Given the description of an element on the screen output the (x, y) to click on. 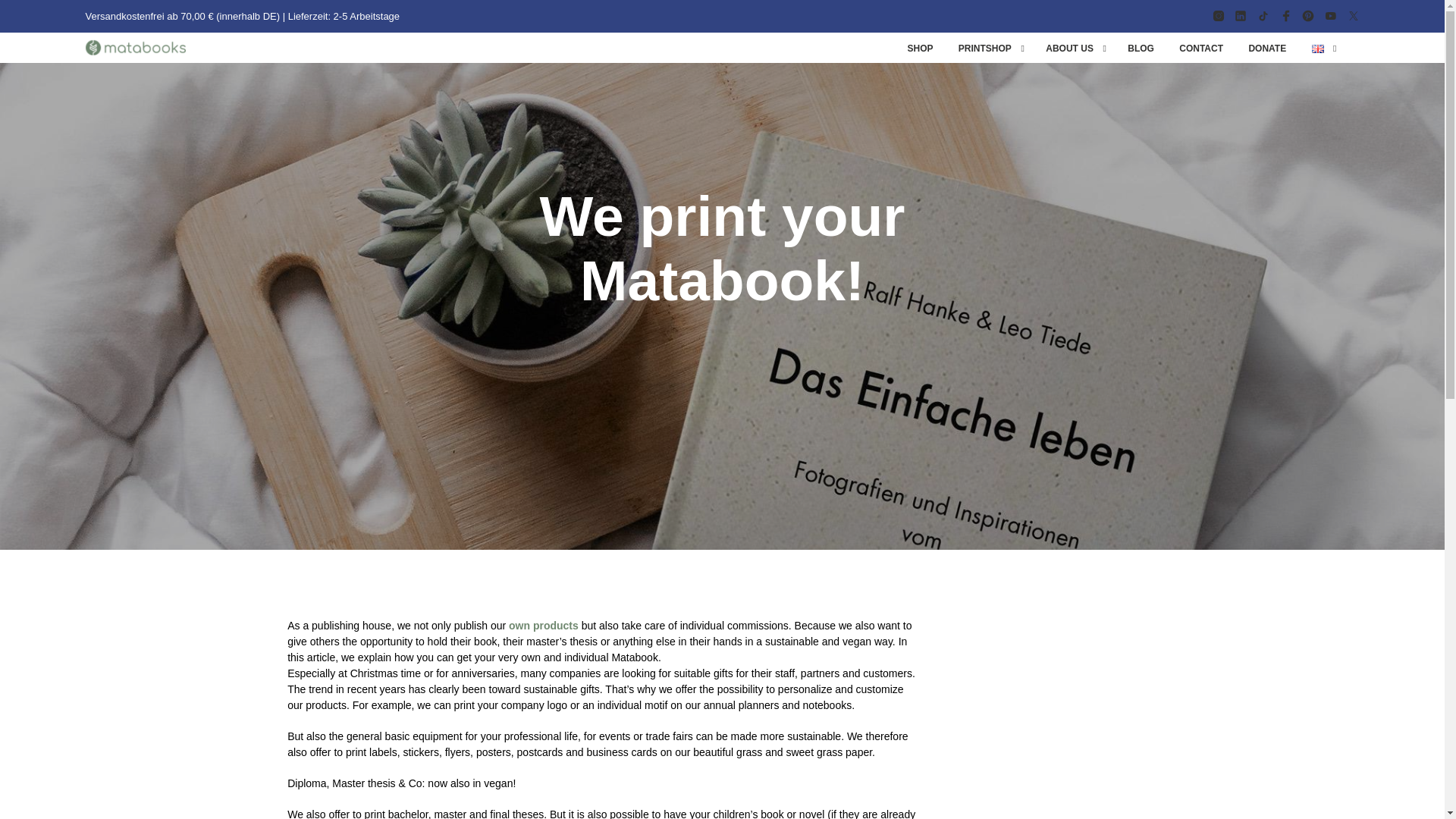
ABOUT US (1069, 48)
Instagram (1218, 15)
Linkedin (1240, 15)
Facebook (1285, 15)
YouTube (1330, 15)
BLOG (1141, 48)
X (1352, 15)
Tik Tok (1263, 15)
DONATE (1266, 48)
own products (543, 625)
SHOP (920, 48)
Pinterest (1307, 15)
PRINTSHOP (985, 48)
CONTACT (1200, 48)
